Given the description of an element on the screen output the (x, y) to click on. 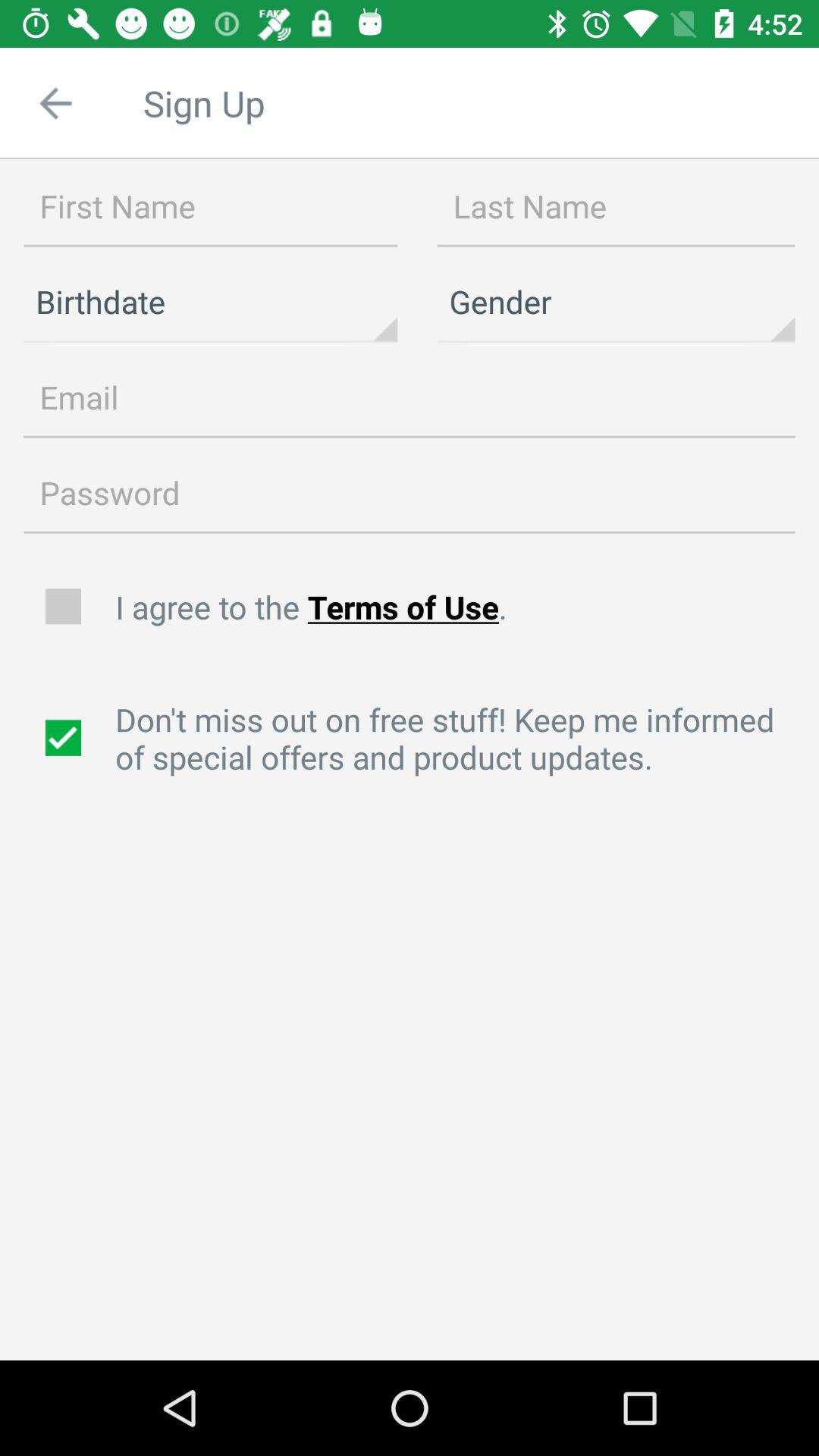
toggle emailed product news (65, 738)
